Given the description of an element on the screen output the (x, y) to click on. 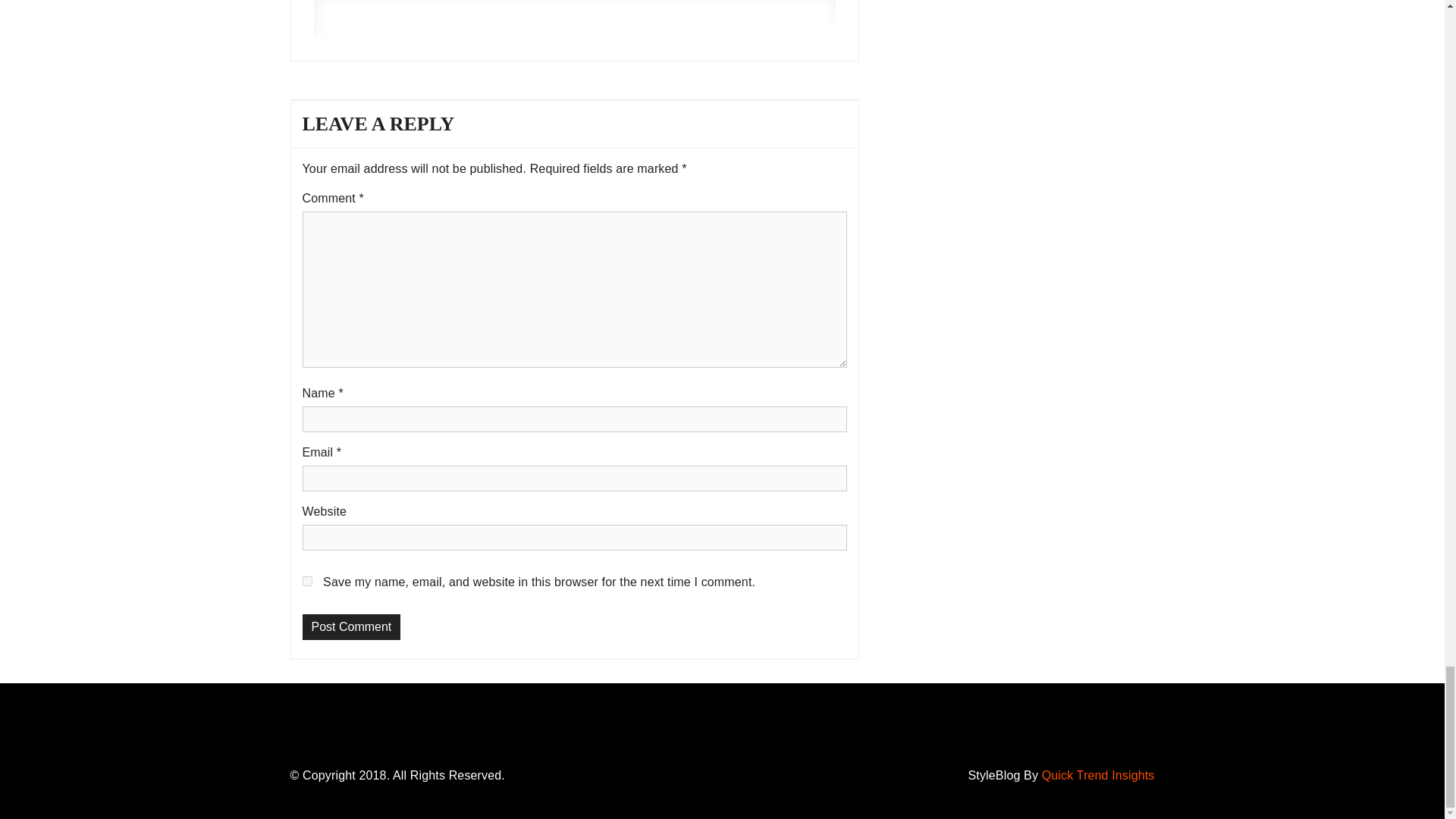
Post Comment (350, 627)
yes (306, 581)
